Given the description of an element on the screen output the (x, y) to click on. 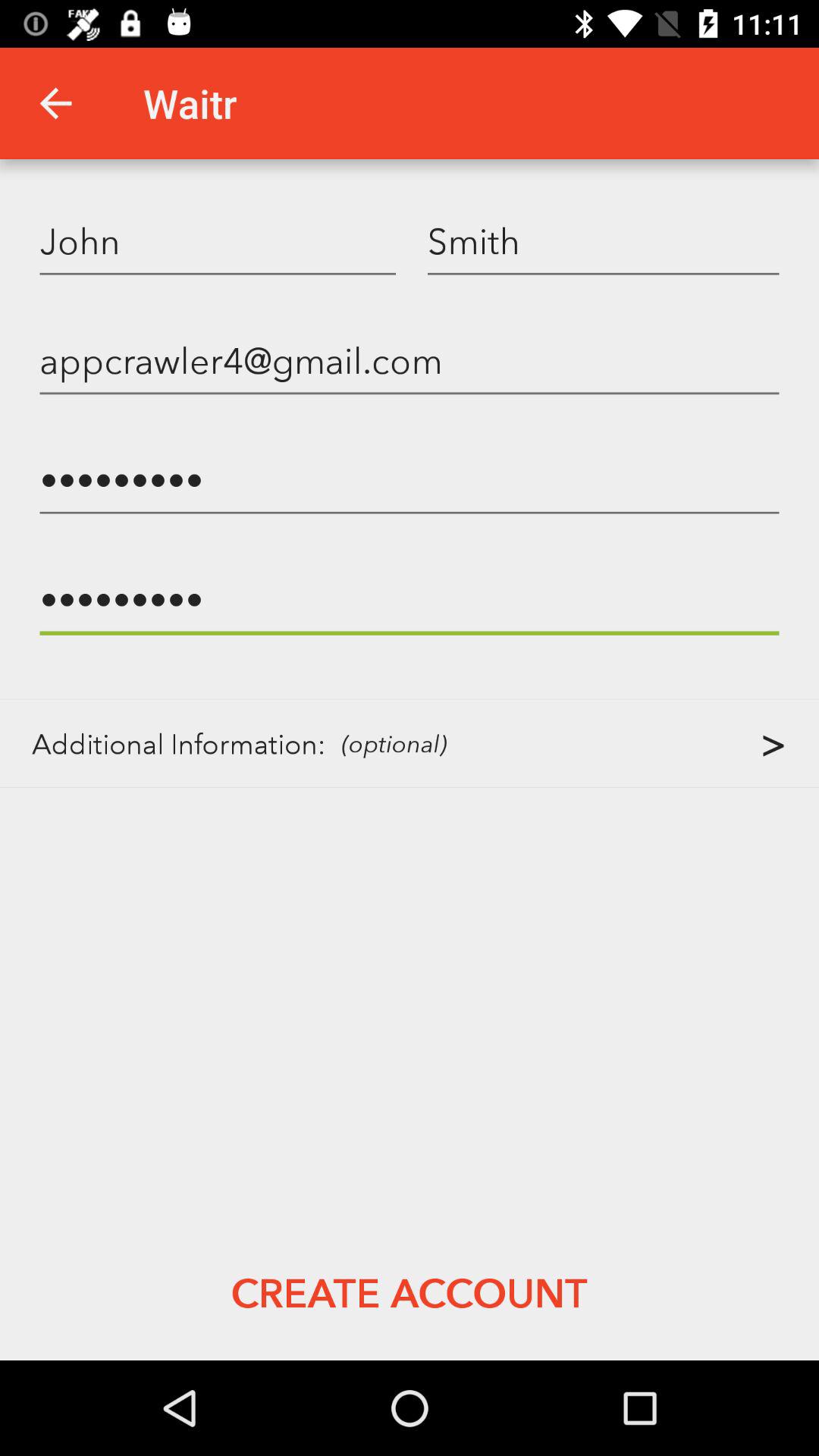
choose item below the john icon (409, 360)
